Given the description of an element on the screen output the (x, y) to click on. 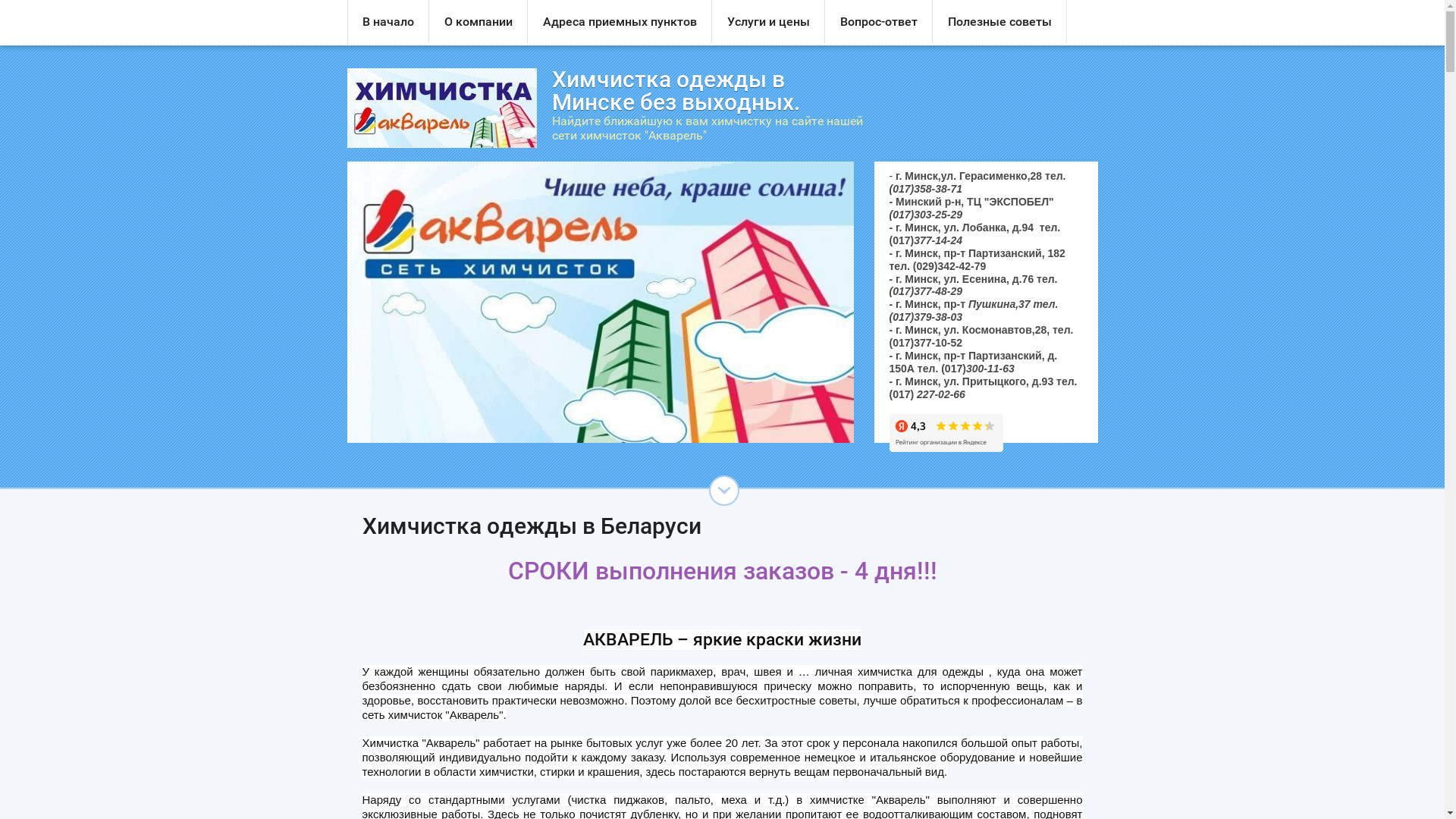
(029)342-42-79 Element type: text (949, 266)
(017)379-38-03 Element type: text (925, 316)
(017)303-25-29 Element type: text (925, 214)
(017) 227-02-66 Element type: text (926, 394)
(017)377-48-29 Element type: text (925, 291)
(017)358-38-71 Element type: text (925, 188)
(017)377-10-52 Element type: text (925, 342)
(017)300-11-63 Element type: text (977, 368)
(017)377-14-24 Element type: text (925, 240)
